Given the description of an element on the screen output the (x, y) to click on. 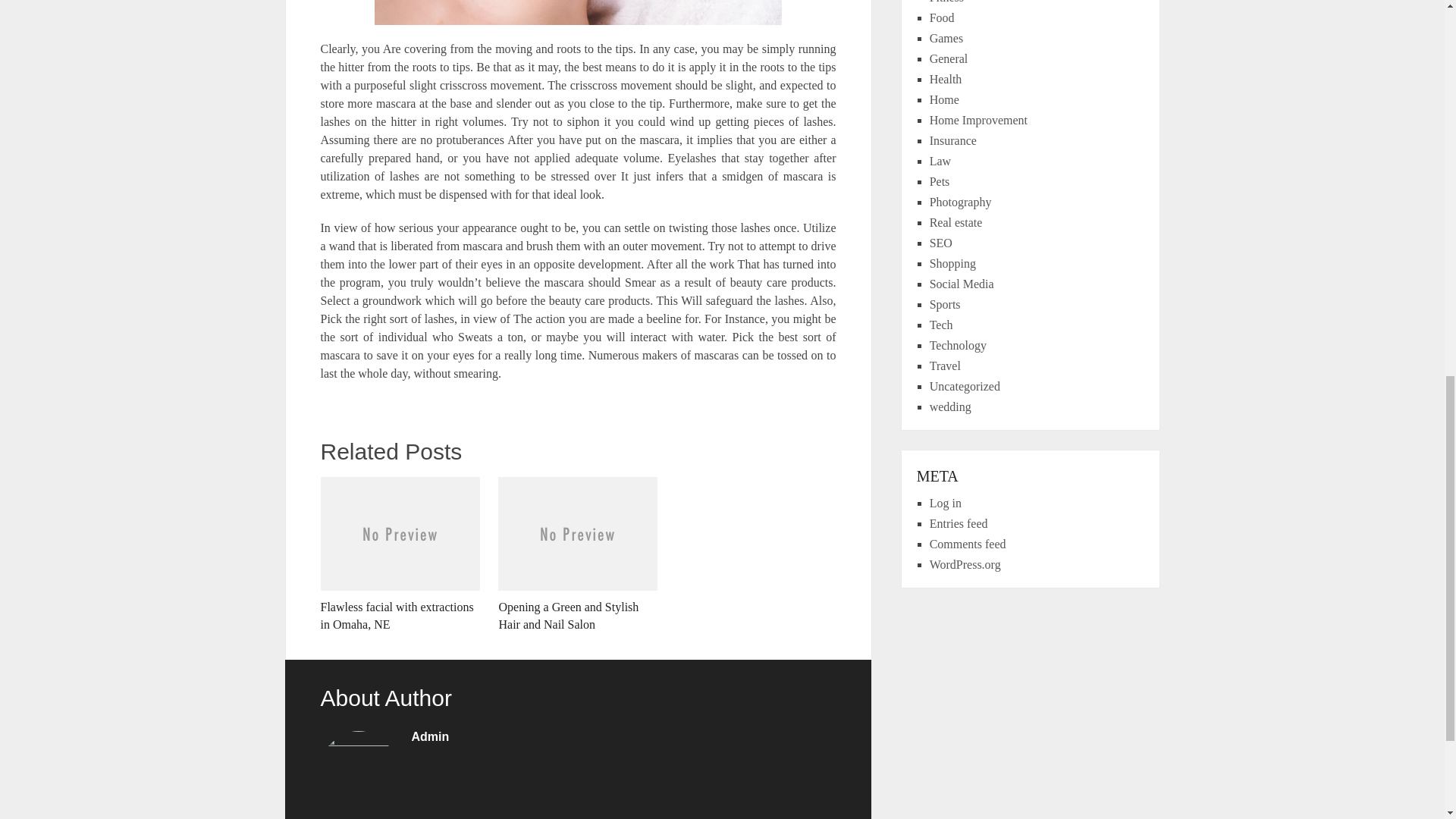
Pets (940, 181)
Home Improvement (978, 119)
Games (946, 38)
Flawless facial with extractions in Omaha, NE (399, 554)
Law (940, 160)
Opening a Green and Stylish Hair and Nail Salon (577, 554)
Food (942, 17)
Home (944, 99)
Opening a Green and Stylish Hair and Nail Salon (577, 554)
Photography (960, 201)
